Given the description of an element on the screen output the (x, y) to click on. 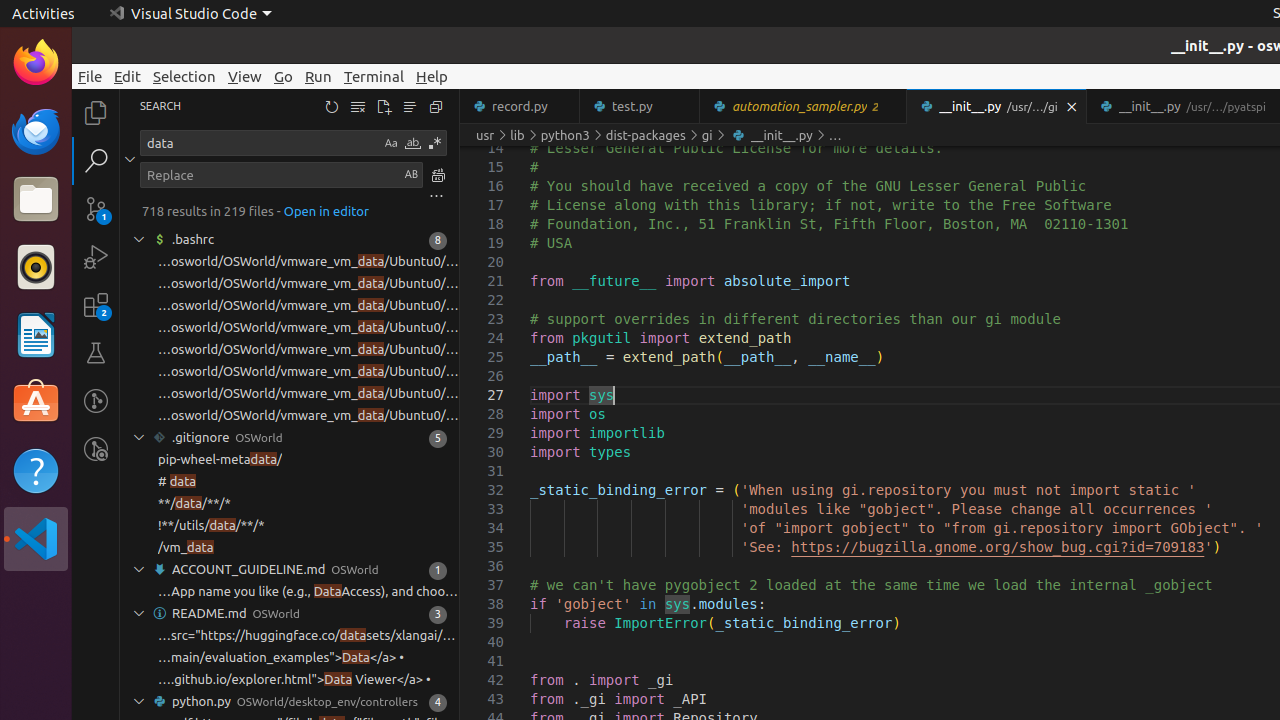
Selection Element type: push-button (184, 76)
…osworld/OSWorld/vmware_vm_data/Ubuntu0/Ubuntu0.vmx "/bin/bash" "$1 > /home/user/vm.log 2>&1" && vmrun -gu user -gp password copyFileFromGuestToHost /home/PJLAB/luyi1/osworld/OSWorld/vmware_vm_data/Ubuntu0/Ubuntu0.vmx /home/user/vm.log vm.log; }; _vm Element type: link (308, 305)
Explorer (Ctrl+Shift+E) Element type: page-tab (96, 113)
